Given the description of an element on the screen output the (x, y) to click on. 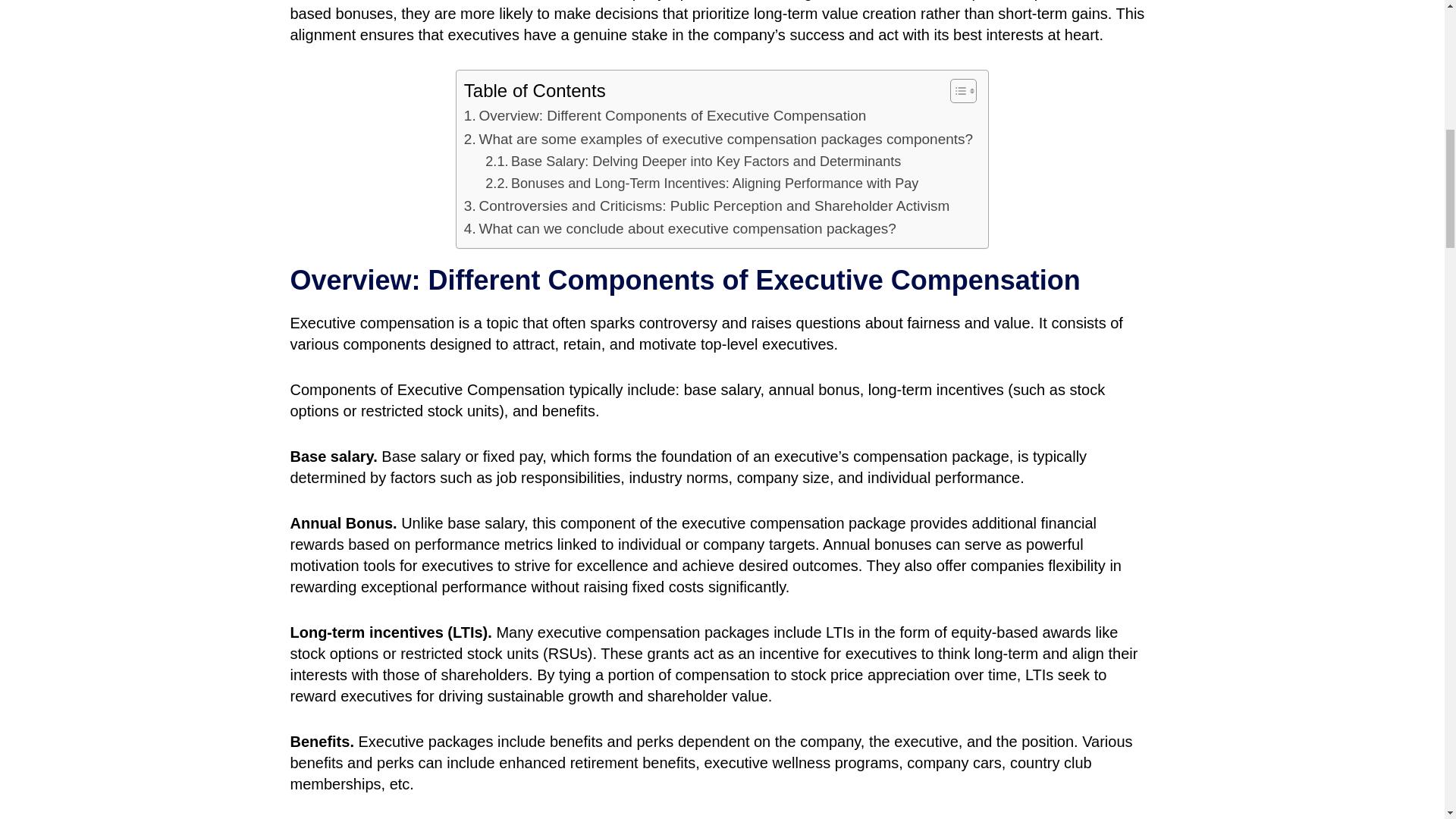
Overview: Different Components of Executive Compensation (665, 115)
What can we conclude about executive compensation packages? (680, 228)
